Given the description of an element on the screen output the (x, y) to click on. 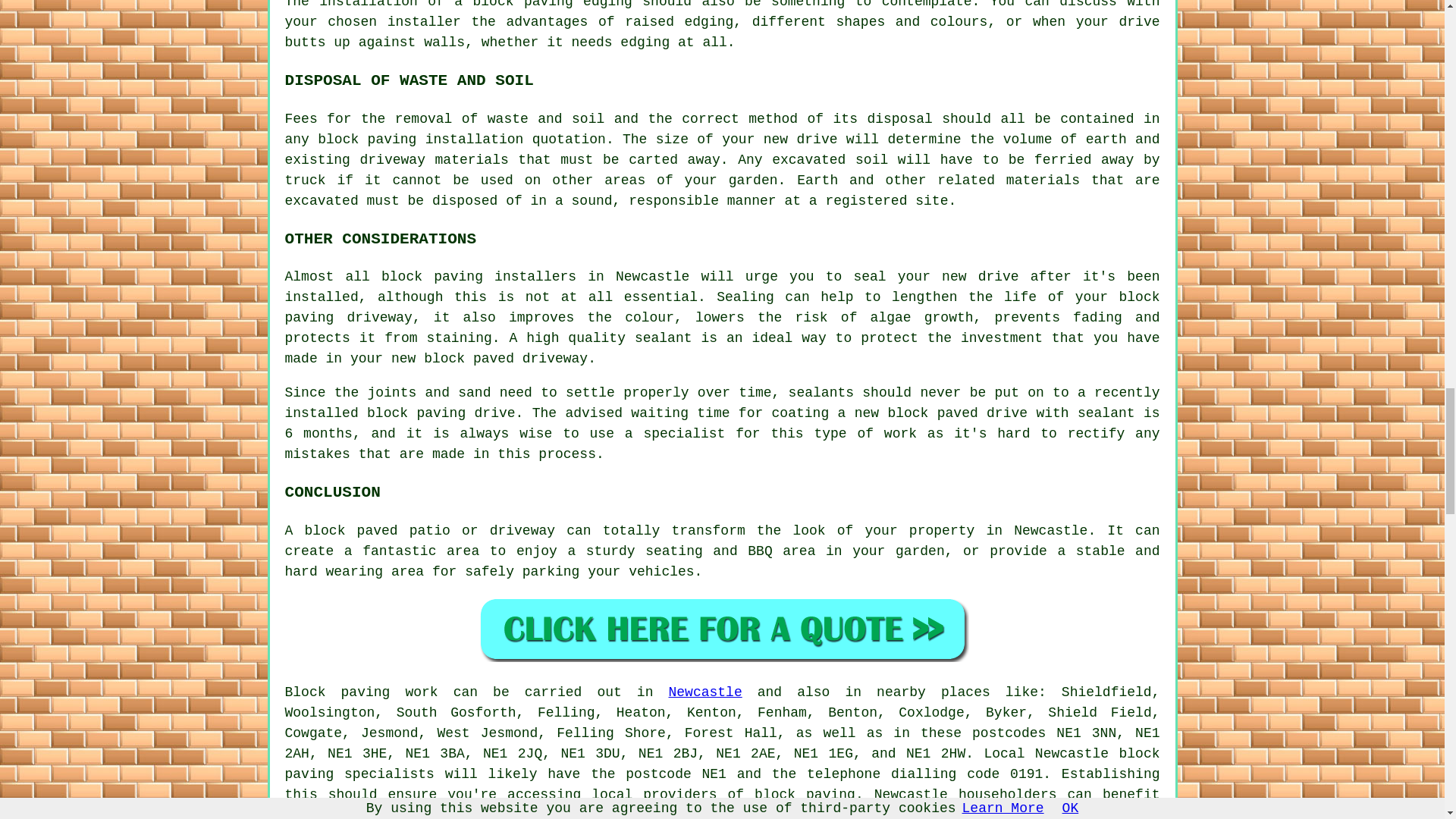
block paving (805, 794)
block paving specialists (722, 764)
Block paving work (361, 692)
Book a Block Paver in Newcastle UK (722, 628)
